Given the description of an element on the screen output the (x, y) to click on. 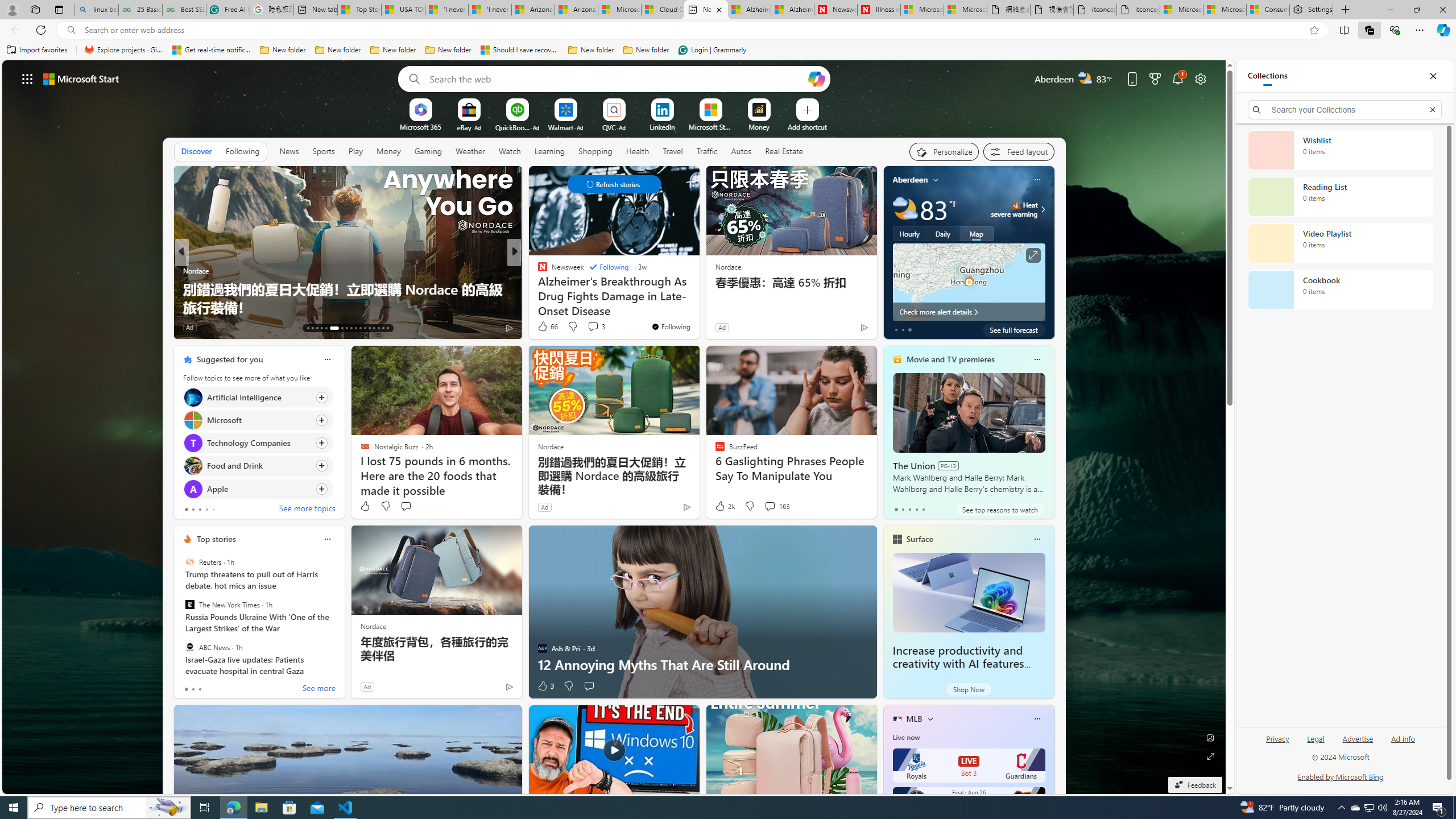
Microsoft (192, 419)
TechRadar (537, 288)
Real Estate (783, 151)
20 Ways to Boost Your Protein Intake at Every Meal (697, 307)
You're following The Weather Channel (839, 329)
The Weather Channel (537, 270)
You're following Newsweek (670, 326)
View comments 163 Comment (770, 505)
Consumer Health Data Privacy Policy (1267, 9)
